Given the description of an element on the screen output the (x, y) to click on. 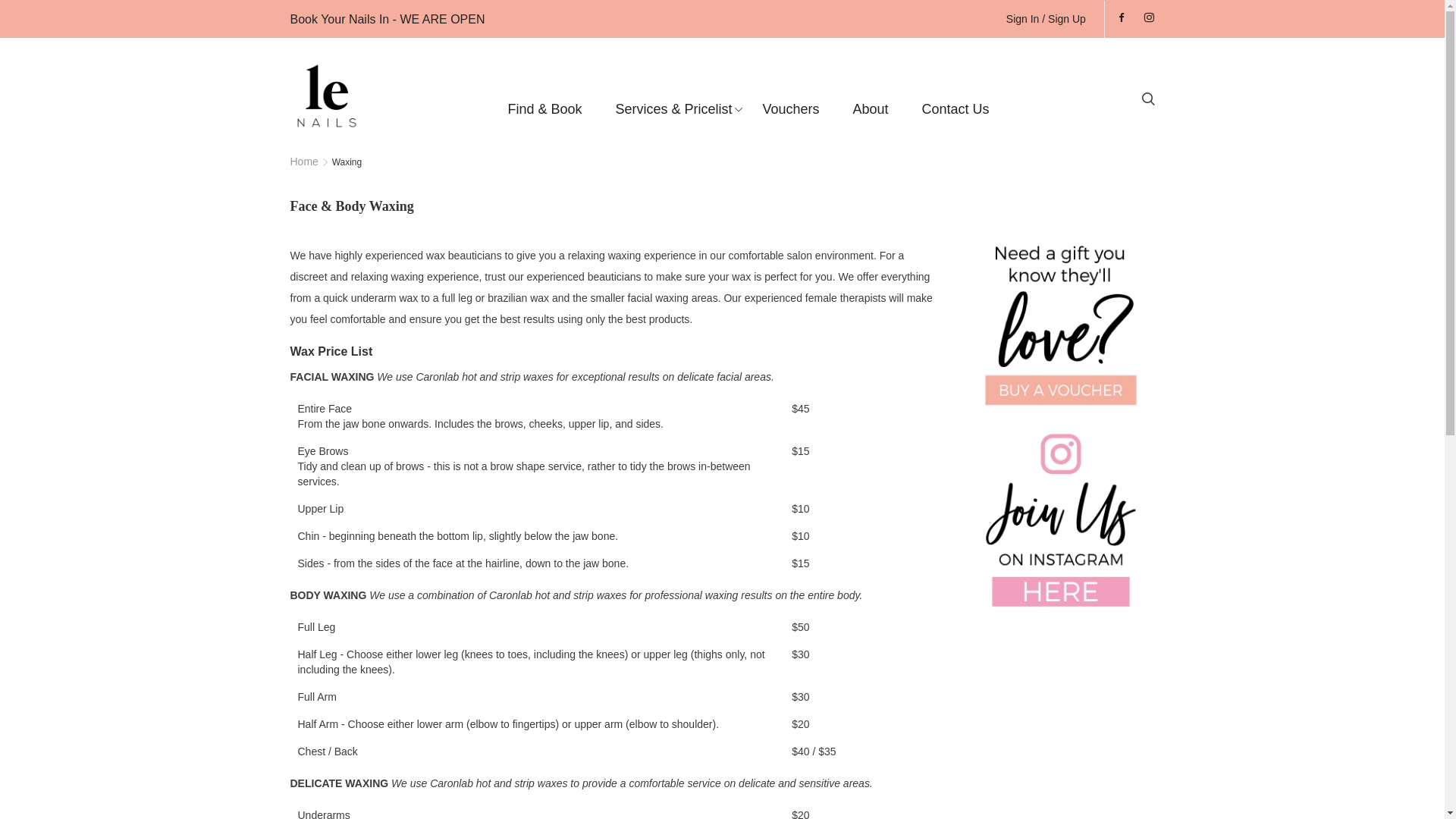
Find & Book Element type: text (544, 109)
Home Element type: text (308, 161)
Vouchers Element type: text (791, 109)
About Element type: text (869, 109)
Services & Pricelist Element type: text (673, 109)
Contact Us Element type: text (954, 109)
